Given the description of an element on the screen output the (x, y) to click on. 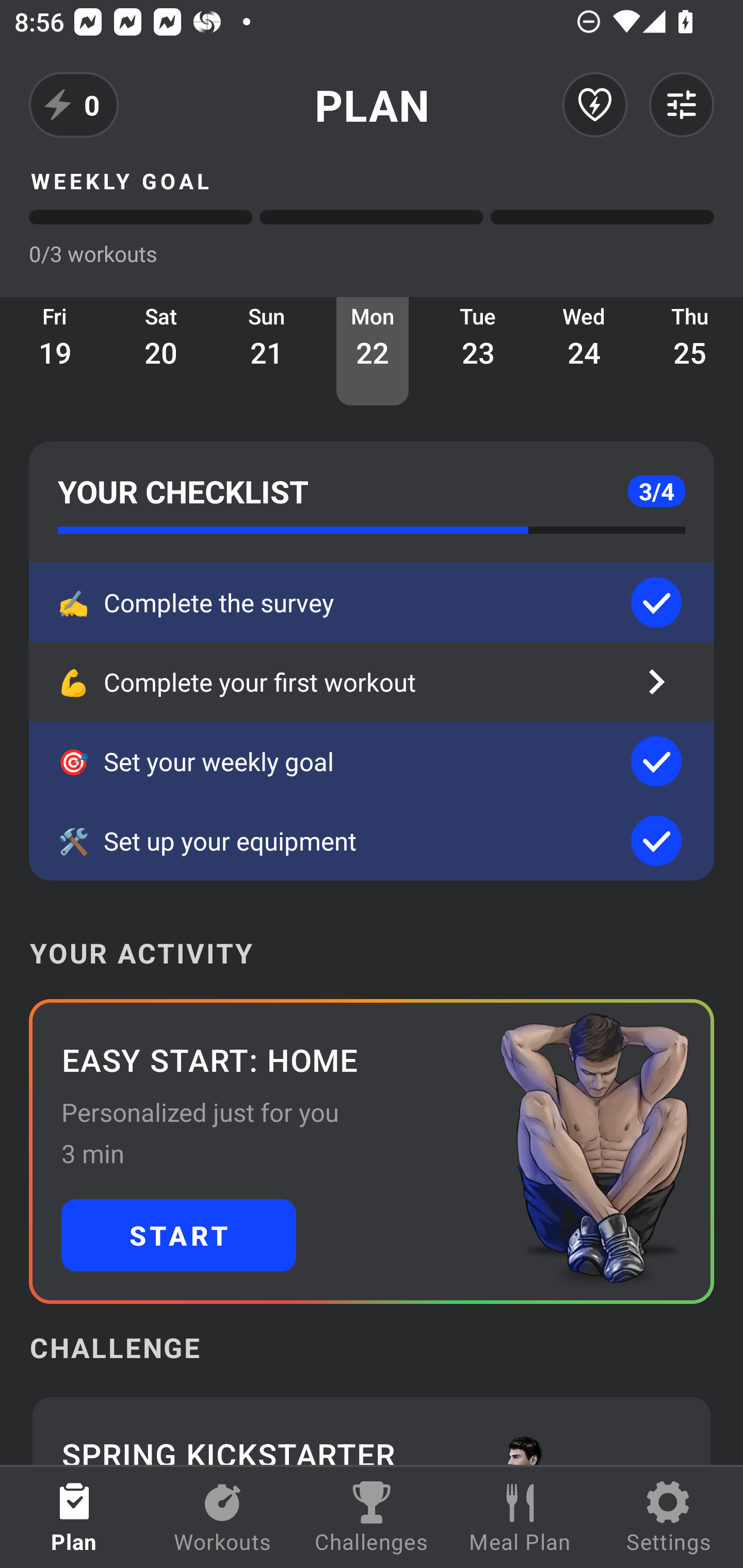
0 (73, 104)
Fri 19 (55, 351)
Sat 20 (160, 351)
Sun 21 (266, 351)
Mon 22 (372, 351)
Tue 23 (478, 351)
Wed 24 (584, 351)
Thu 25 (690, 351)
💪 Complete your first workout (371, 681)
START (178, 1235)
 Workouts  (222, 1517)
 Challenges  (371, 1517)
 Meal Plan  (519, 1517)
 Settings  (668, 1517)
